Given the description of an element on the screen output the (x, y) to click on. 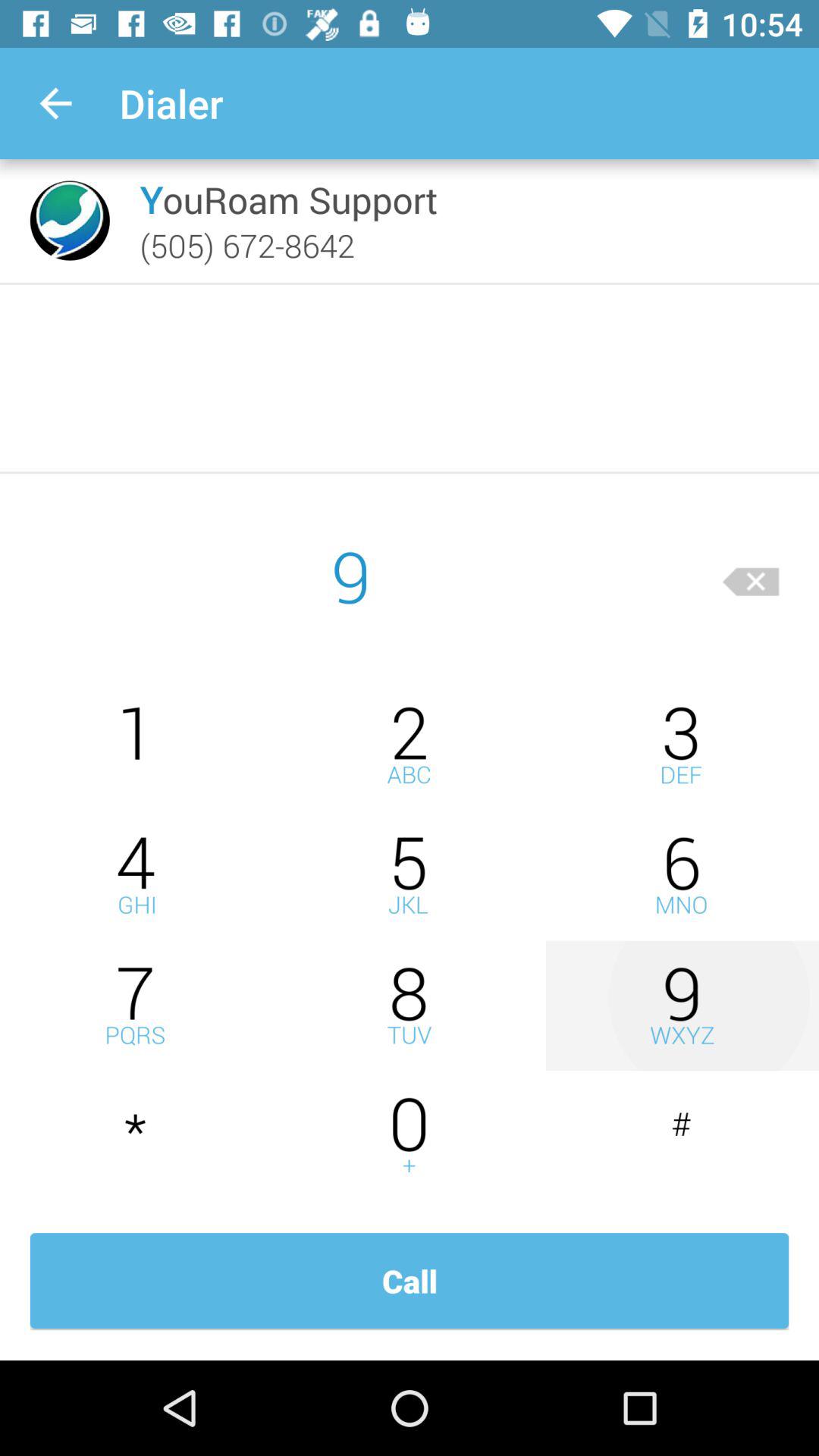
delete previous character (750, 575)
